Given the description of an element on the screen output the (x, y) to click on. 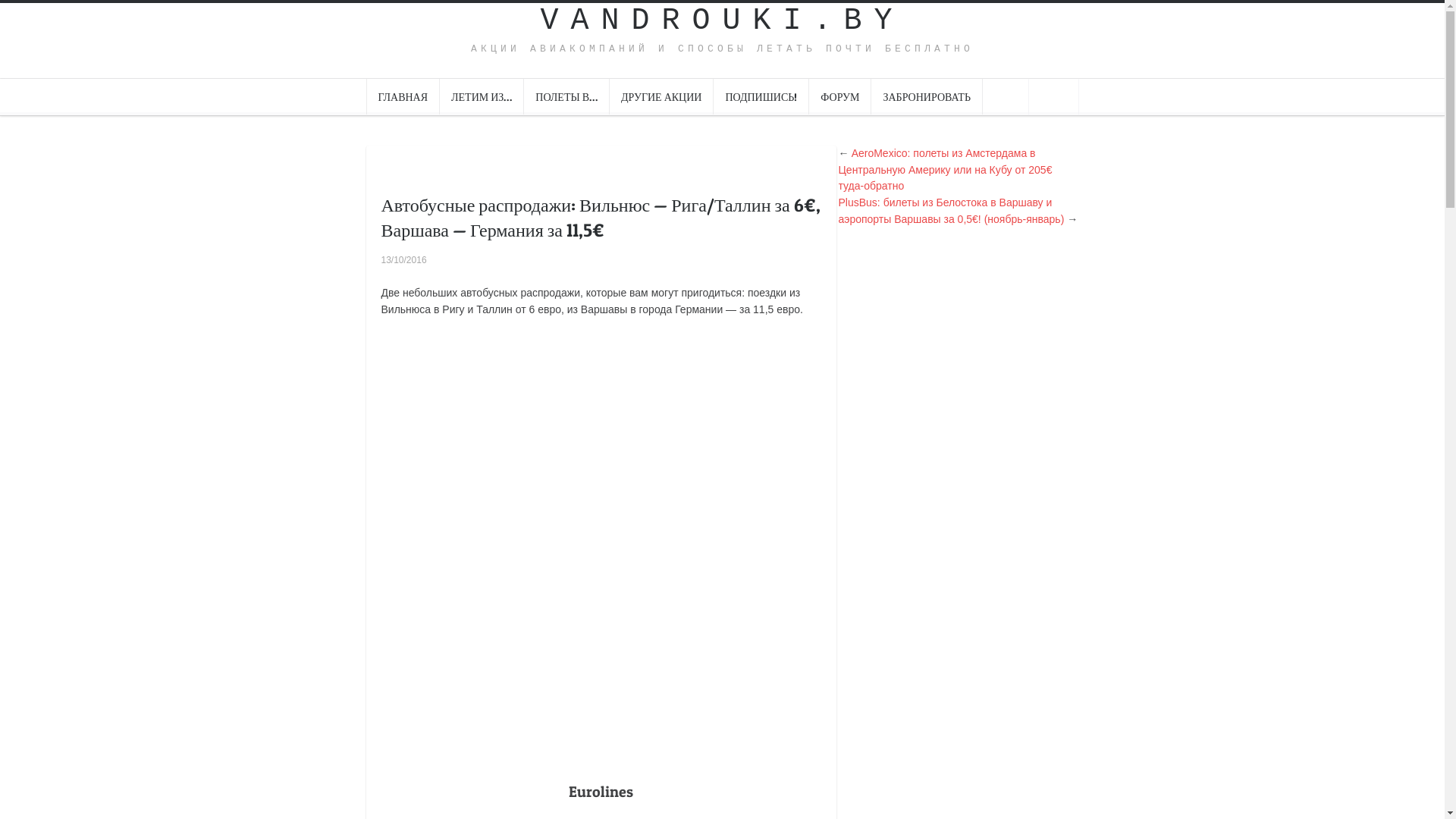
VANDROUKI.BY Element type: text (721, 20)
